Given the description of an element on the screen output the (x, y) to click on. 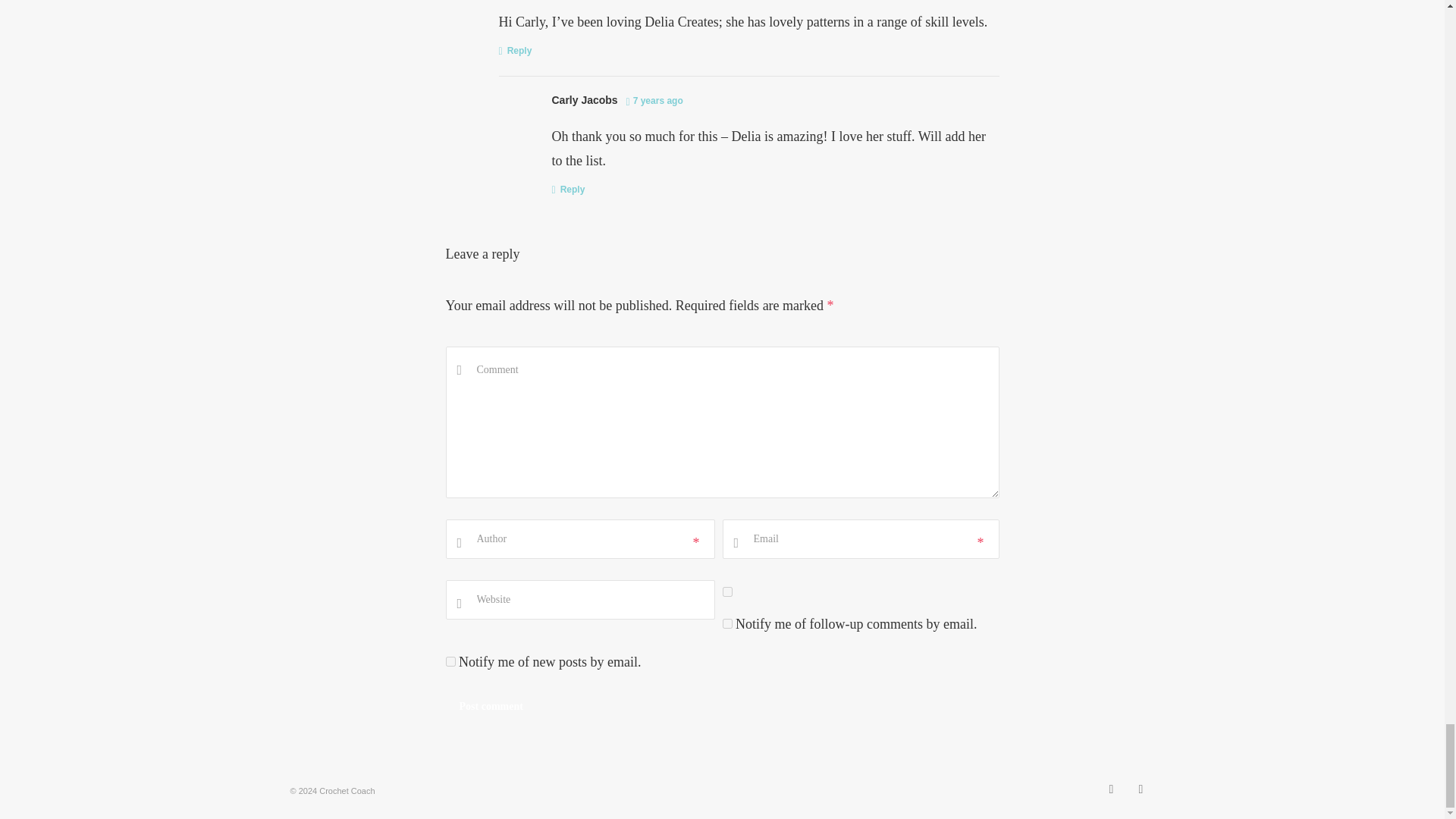
yes (727, 592)
subscribe (727, 623)
subscribe (450, 661)
Post comment (491, 706)
